Given the description of an element on the screen output the (x, y) to click on. 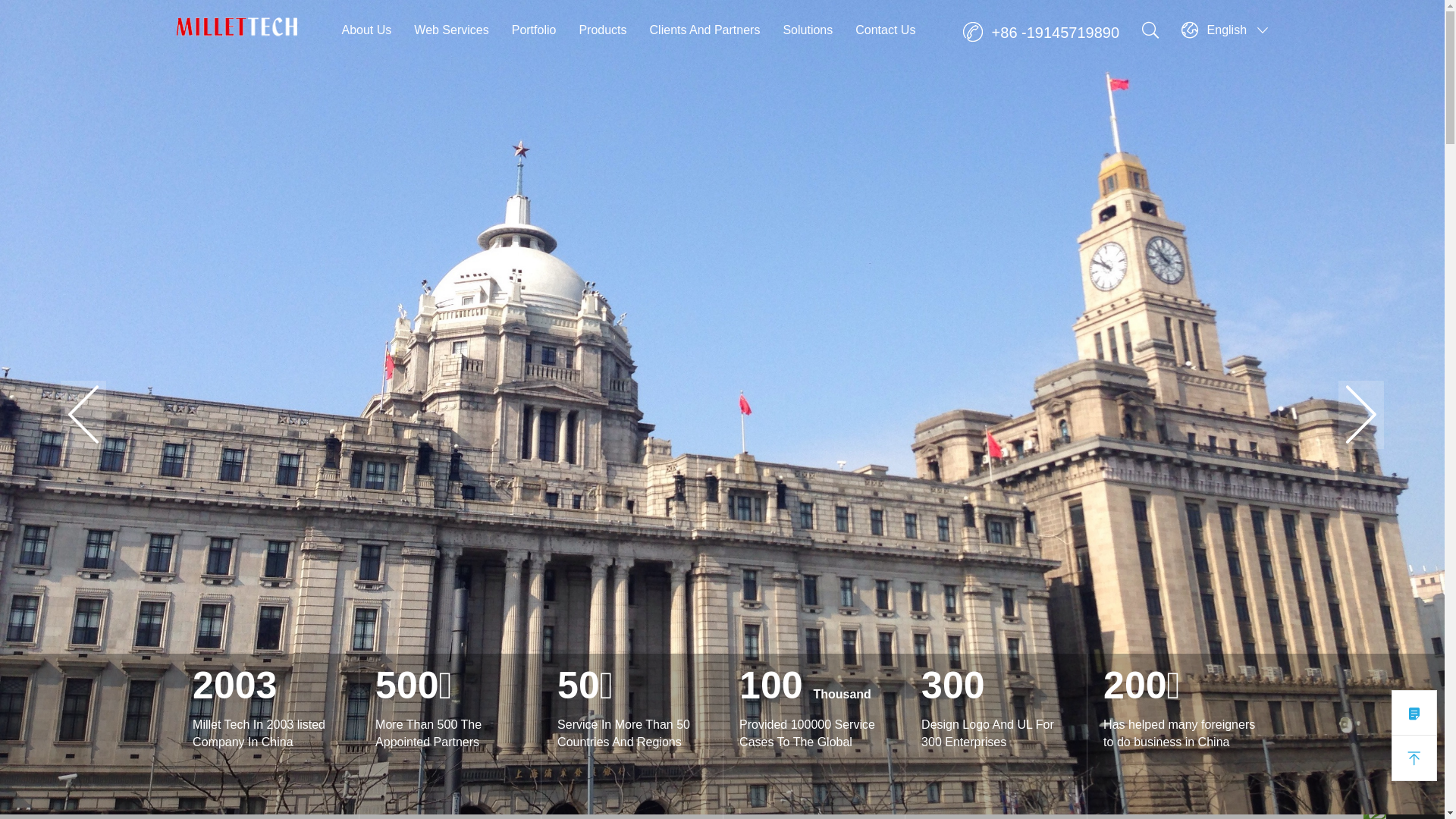
Portfolio Element type: text (533, 30)
  +86 -19145719890 Element type: text (1041, 32)
Contact Us Element type: text (885, 30)
About Us Element type: text (366, 30)
Clients And Partners Element type: text (704, 30)
Solutions Element type: text (807, 30)
Web Services Element type: text (451, 30)
Products Element type: text (602, 30)
